Given the description of an element on the screen output the (x, y) to click on. 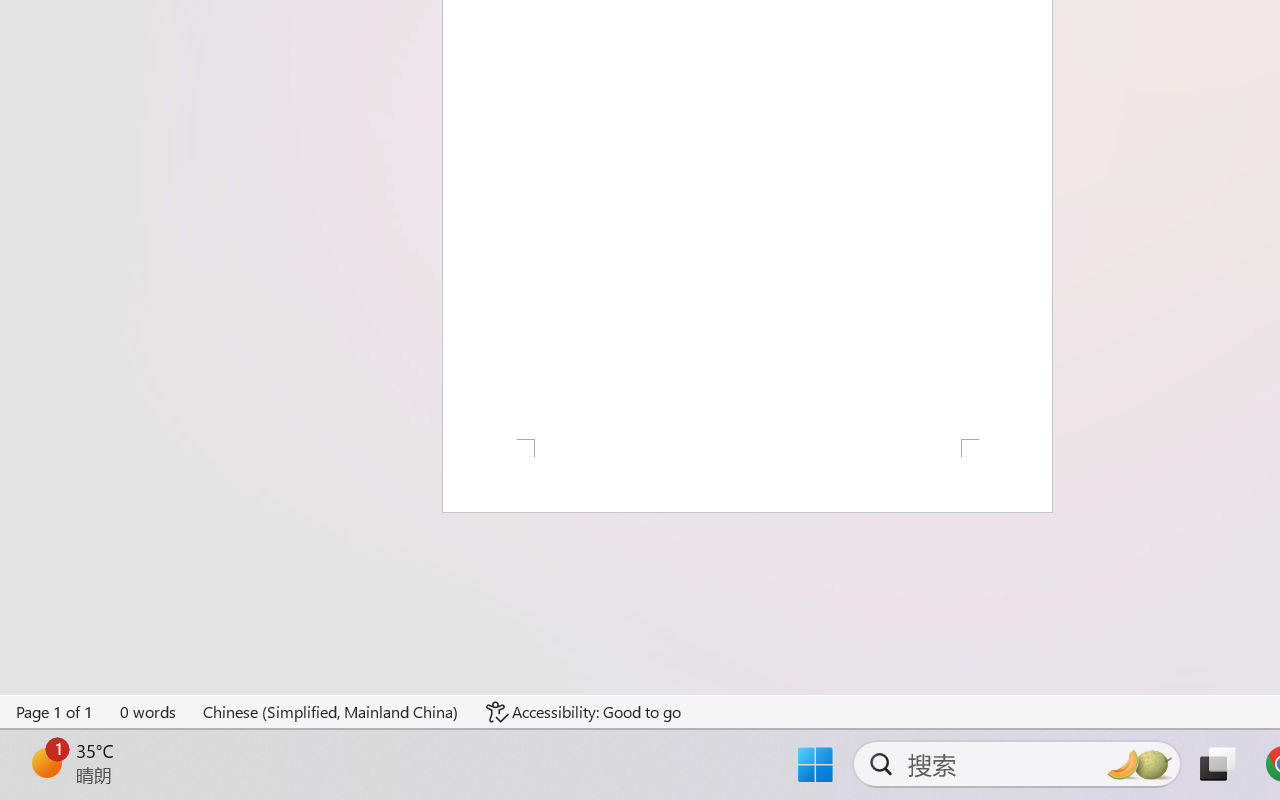
Language Chinese (Simplified, Mainland China) (331, 712)
